Given the description of an element on the screen output the (x, y) to click on. 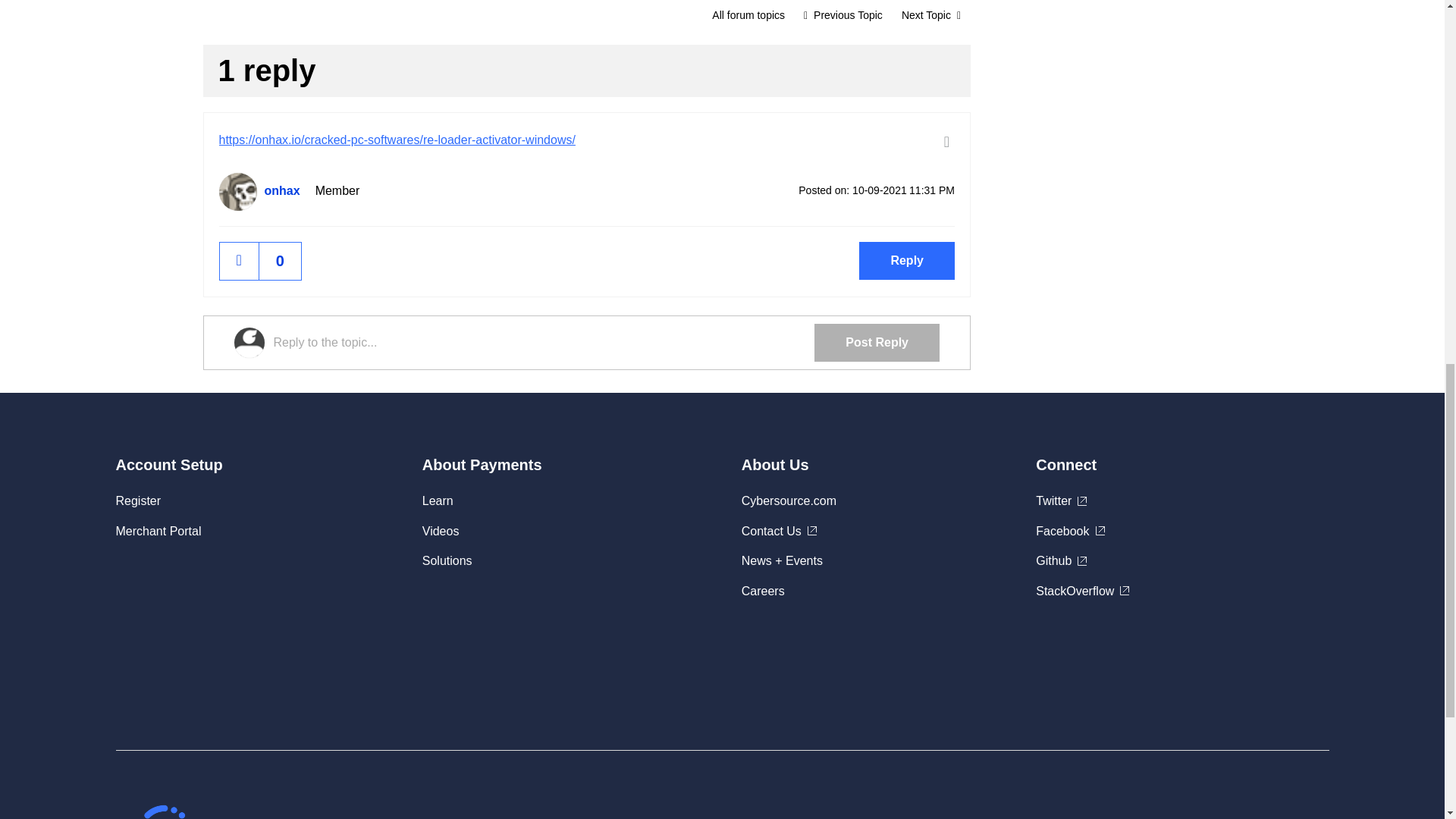
Initialization Issue in .netcore3.1 (931, 14)
onhax (237, 191)
The total number of kudos this post has received. (280, 260)
How to find the best keywords for a new post? (842, 14)
Click here to give kudos to this post. (239, 261)
Integration and Testing (747, 14)
